Given the description of an element on the screen output the (x, y) to click on. 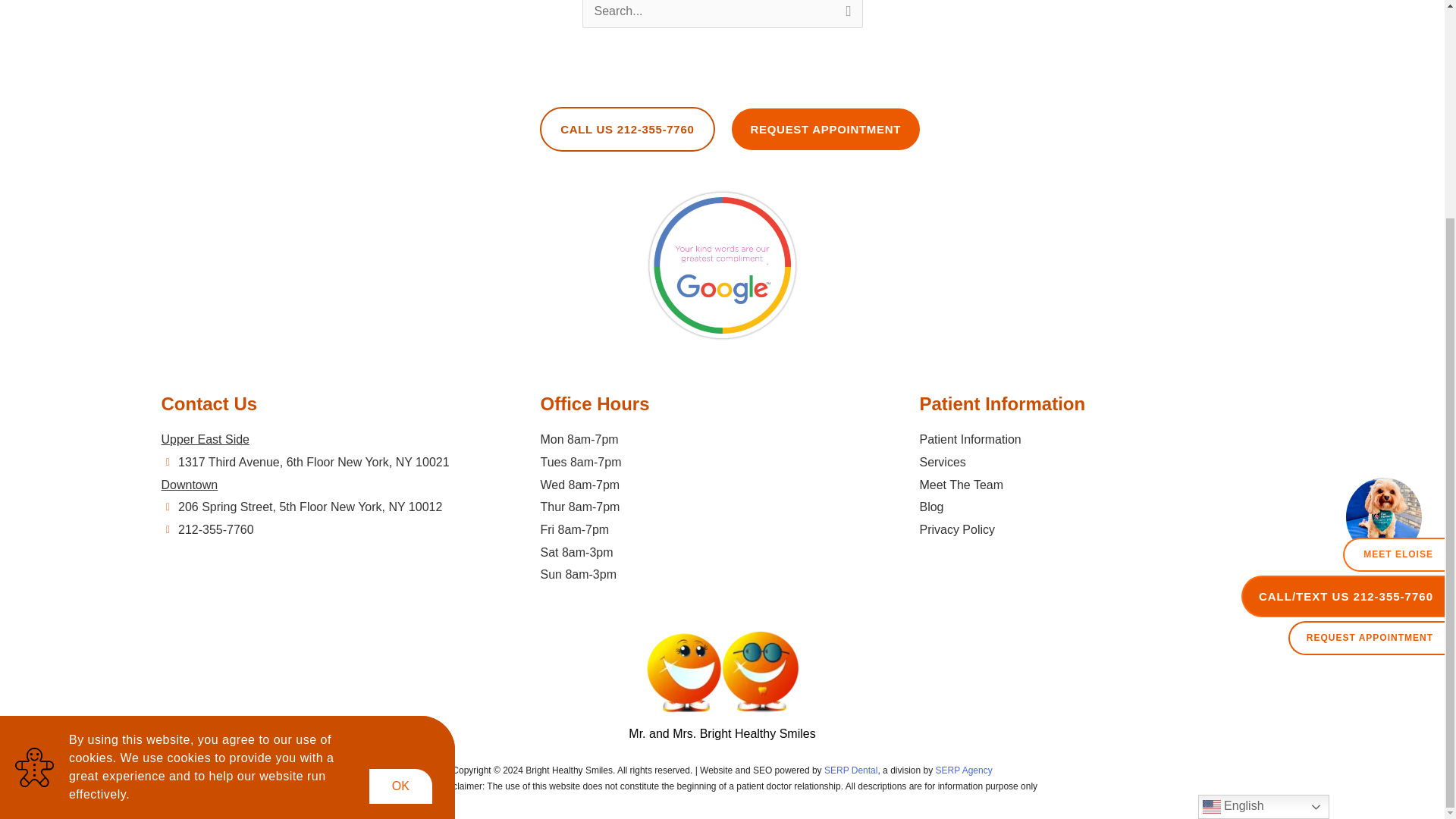
mr mrs bright healthy smiles (721, 671)
Search (844, 18)
Search (844, 18)
